Given the description of an element on the screen output the (x, y) to click on. 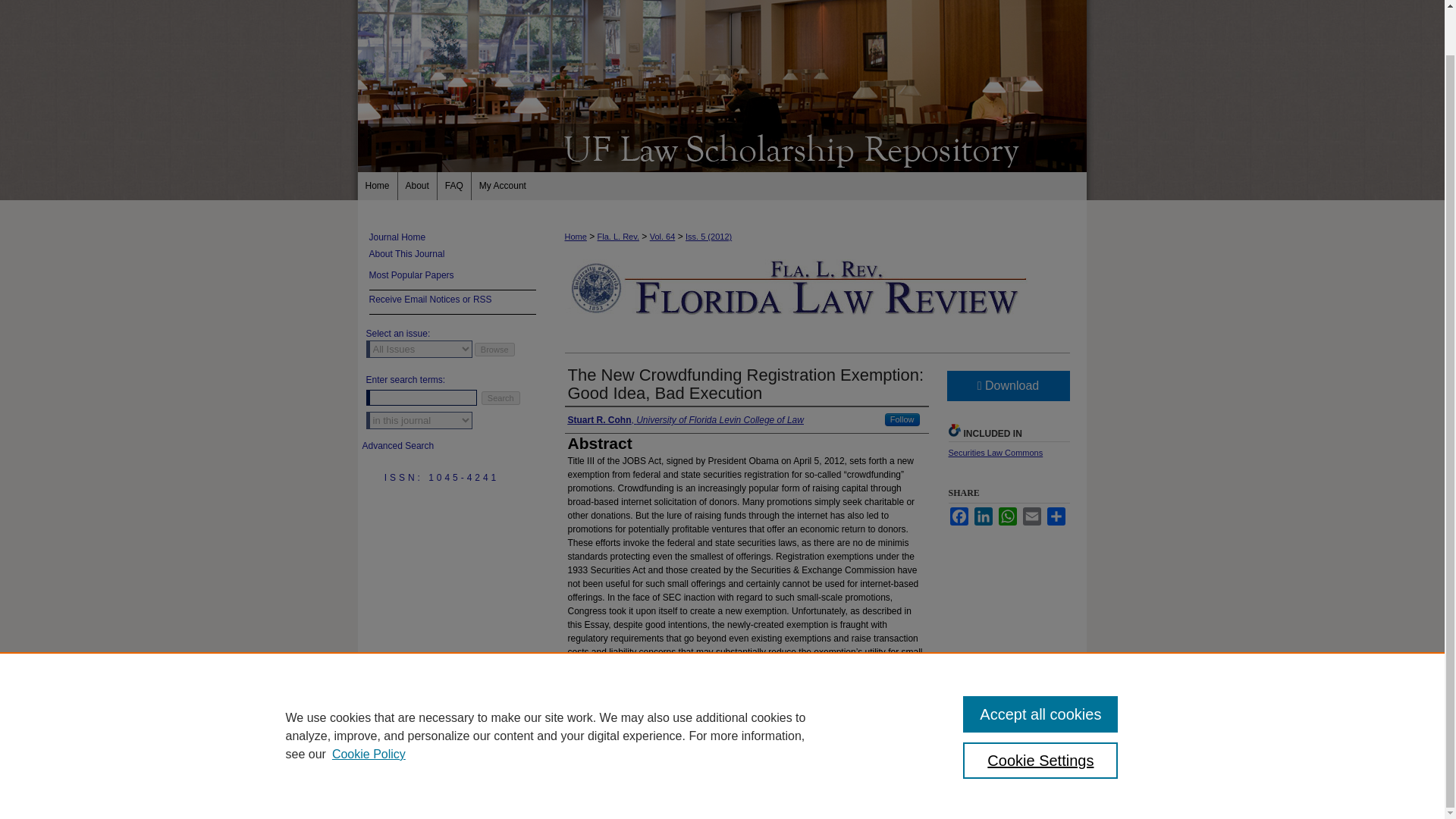
Share (1055, 515)
Securities Law Commons (994, 452)
Home (377, 185)
Home (575, 235)
Fla. L. Rev. (617, 235)
Search (500, 397)
About (416, 185)
Download (1007, 386)
FAQ (454, 185)
Florida Law Review (450, 236)
Florida Law Review (721, 147)
Home (377, 185)
Receive Email Notices or RSS (451, 302)
Most Popular Papers (451, 278)
Follow (902, 419)
